Given the description of an element on the screen output the (x, y) to click on. 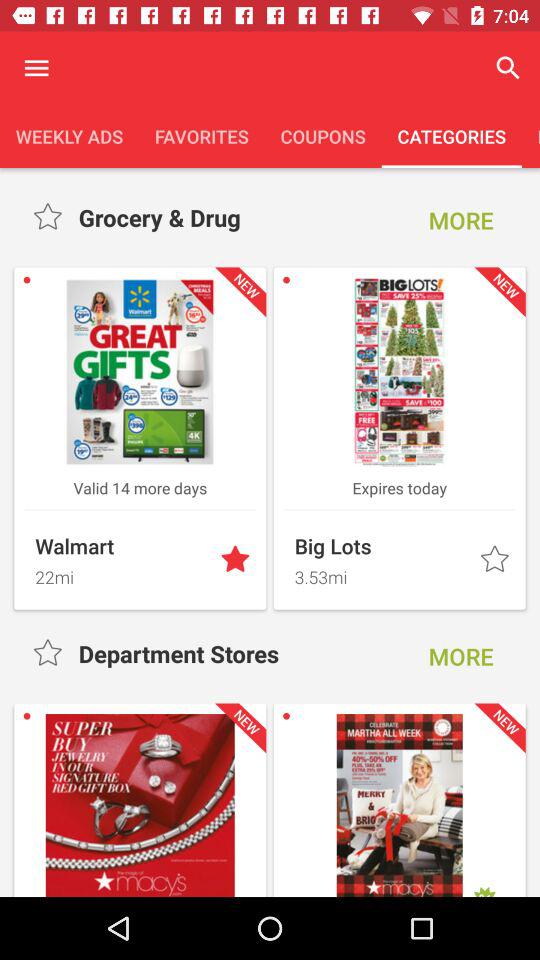
highlight (49, 653)
